Given the description of an element on the screen output the (x, y) to click on. 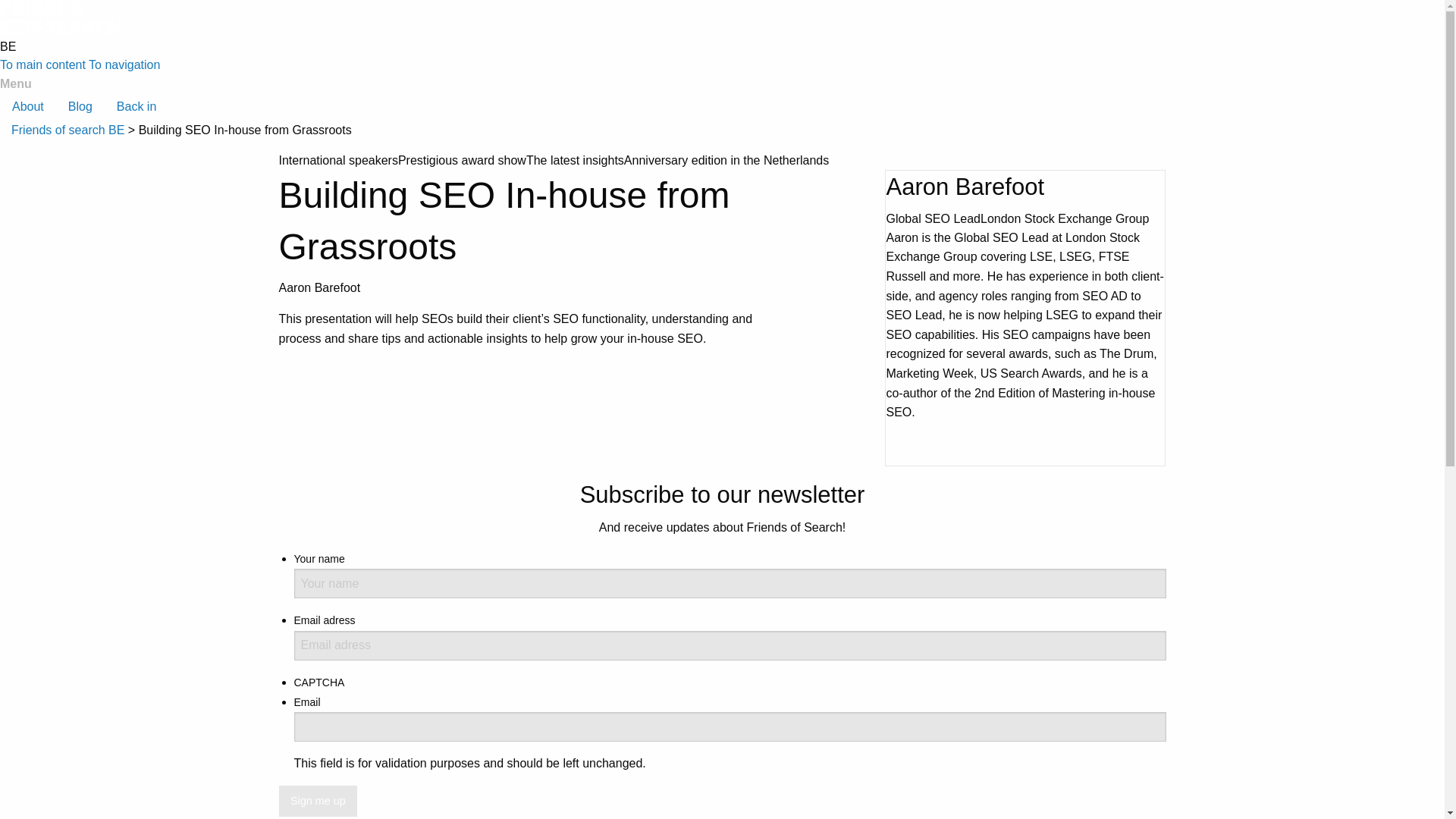
To navigation (124, 64)
Back in (136, 106)
Sign me up (318, 800)
To main content (42, 64)
Go to Friends of search BE. (67, 129)
Friends of search BE (67, 129)
Sign me up (318, 800)
Menu (16, 83)
Blog (80, 106)
About (28, 106)
